Given the description of an element on the screen output the (x, y) to click on. 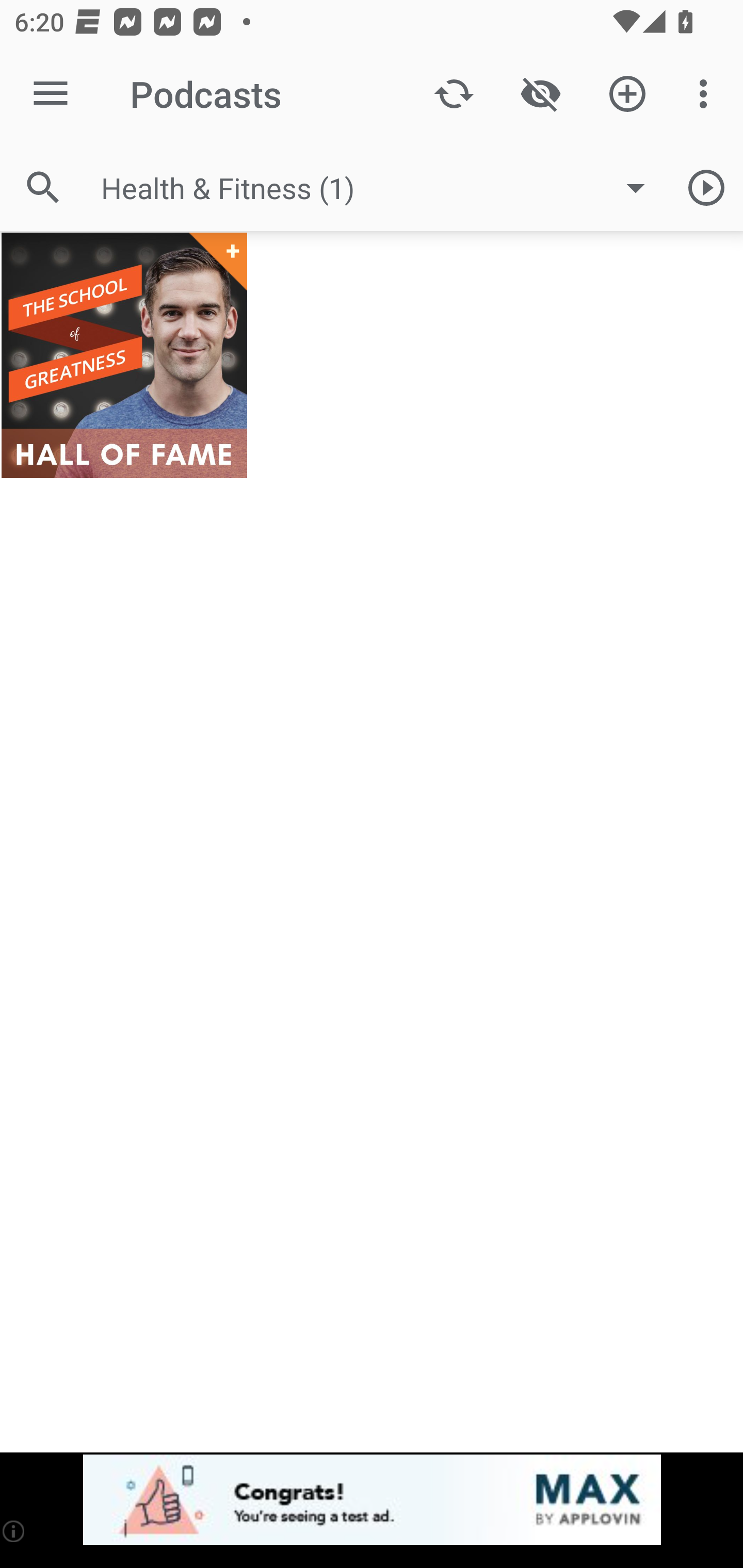
Open navigation sidebar (50, 93)
Update (453, 93)
Show / Hide played content (540, 93)
Add new Podcast (626, 93)
More options (706, 93)
Search (43, 187)
Health & Fitness (1) (382, 188)
The School of Greatness Hall of Fame + (124, 355)
app-monetization (371, 1500)
(i) (14, 1531)
